Given the description of an element on the screen output the (x, y) to click on. 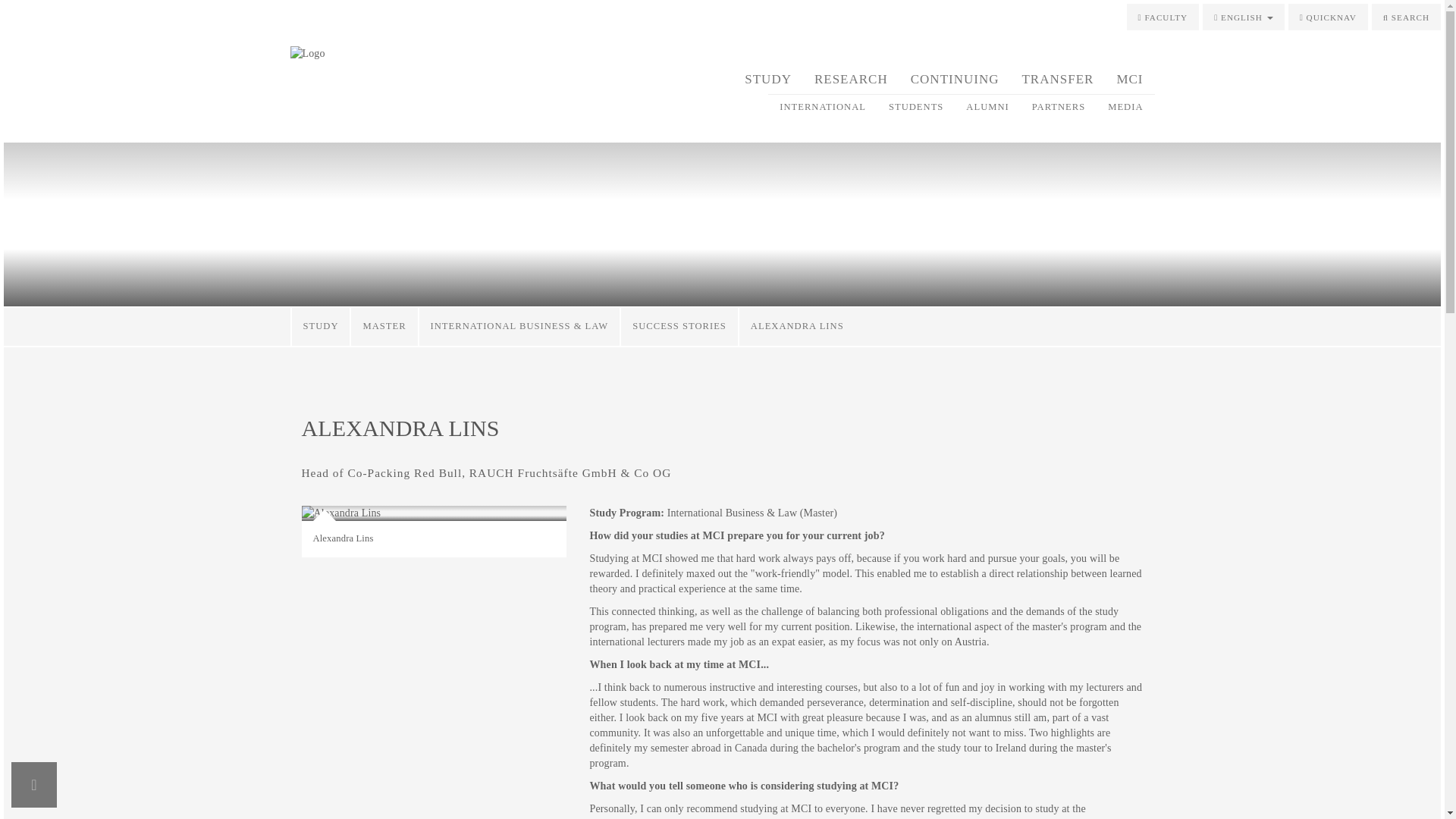
FACULTY (1162, 17)
STUDY (768, 79)
RESEARCH (851, 79)
ENGLISH (1243, 17)
QUICKNAV (1328, 17)
